Given the description of an element on the screen output the (x, y) to click on. 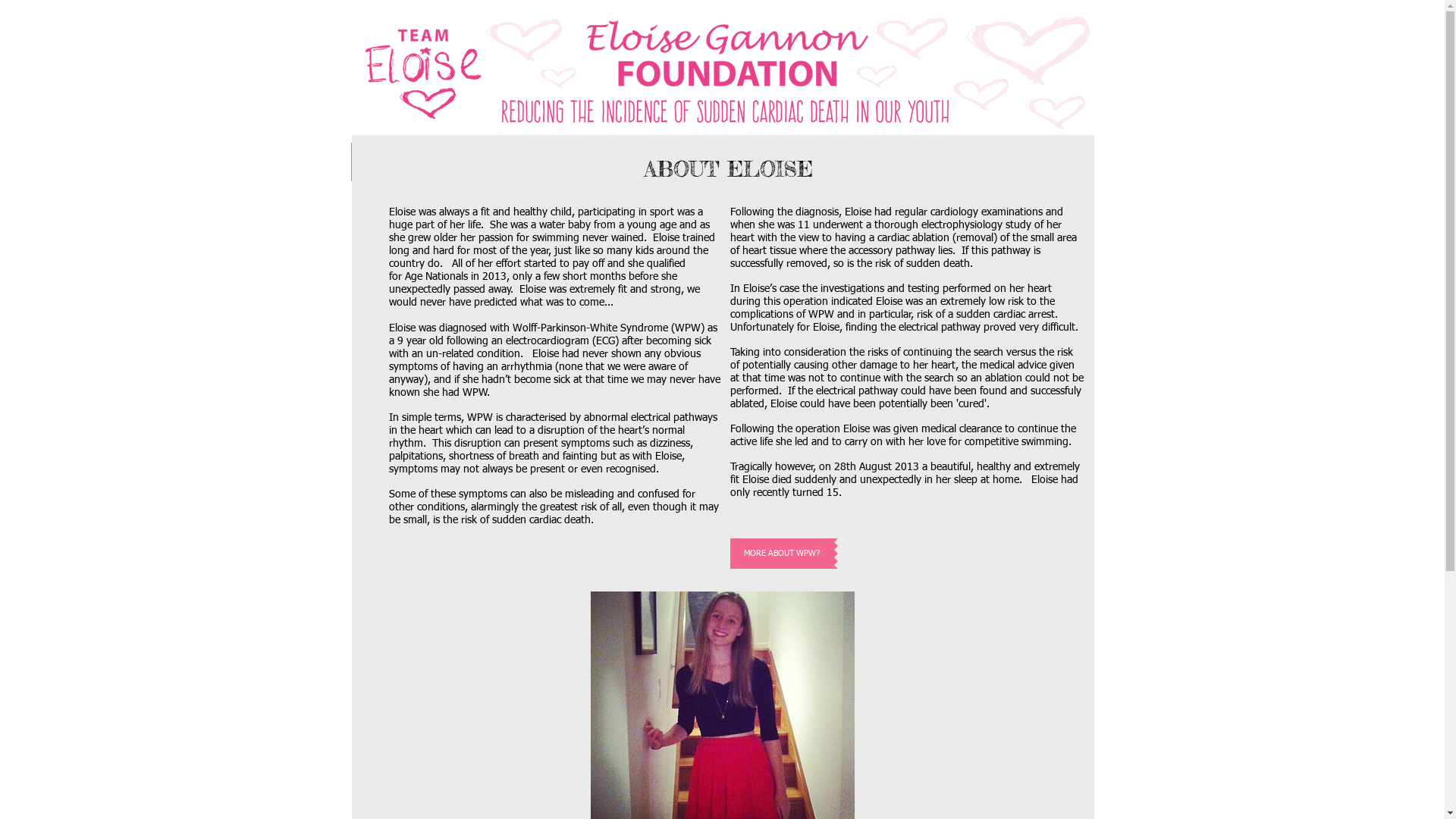
HOME Element type: text (439, 161)
DONATE Element type: text (909, 161)
ECG TESTING Element type: text (533, 161)
MORE ABOUT WPW? Element type: text (781, 553)
NEWS & EVENTS Element type: text (815, 161)
ABOUT US Element type: text (721, 161)
ABOUT ELOISE Element type: text (627, 161)
CONTACT Element type: text (1004, 161)
